Given the description of an element on the screen output the (x, y) to click on. 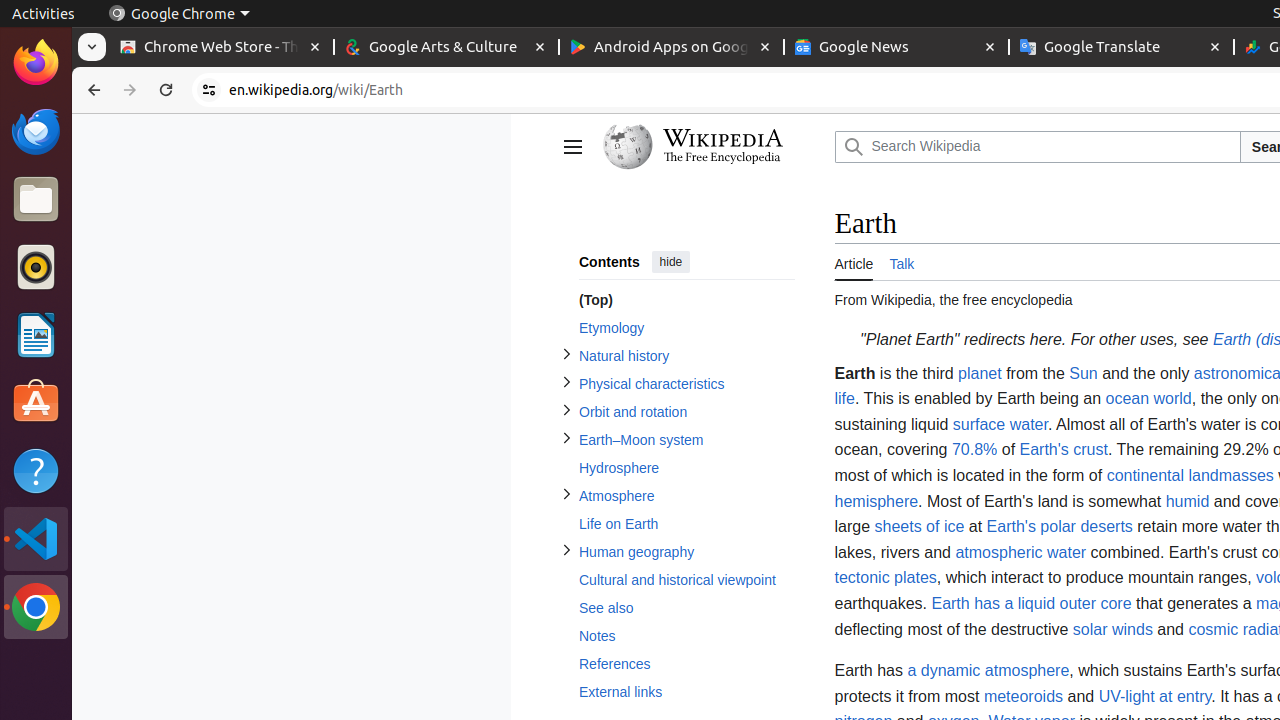
Physical characteristics Element type: link (686, 384)
Hydrosphere Element type: link (686, 468)
Notes Element type: link (686, 636)
humid Element type: link (1187, 501)
Firefox Web Browser Element type: push-button (36, 63)
